Given the description of an element on the screen output the (x, y) to click on. 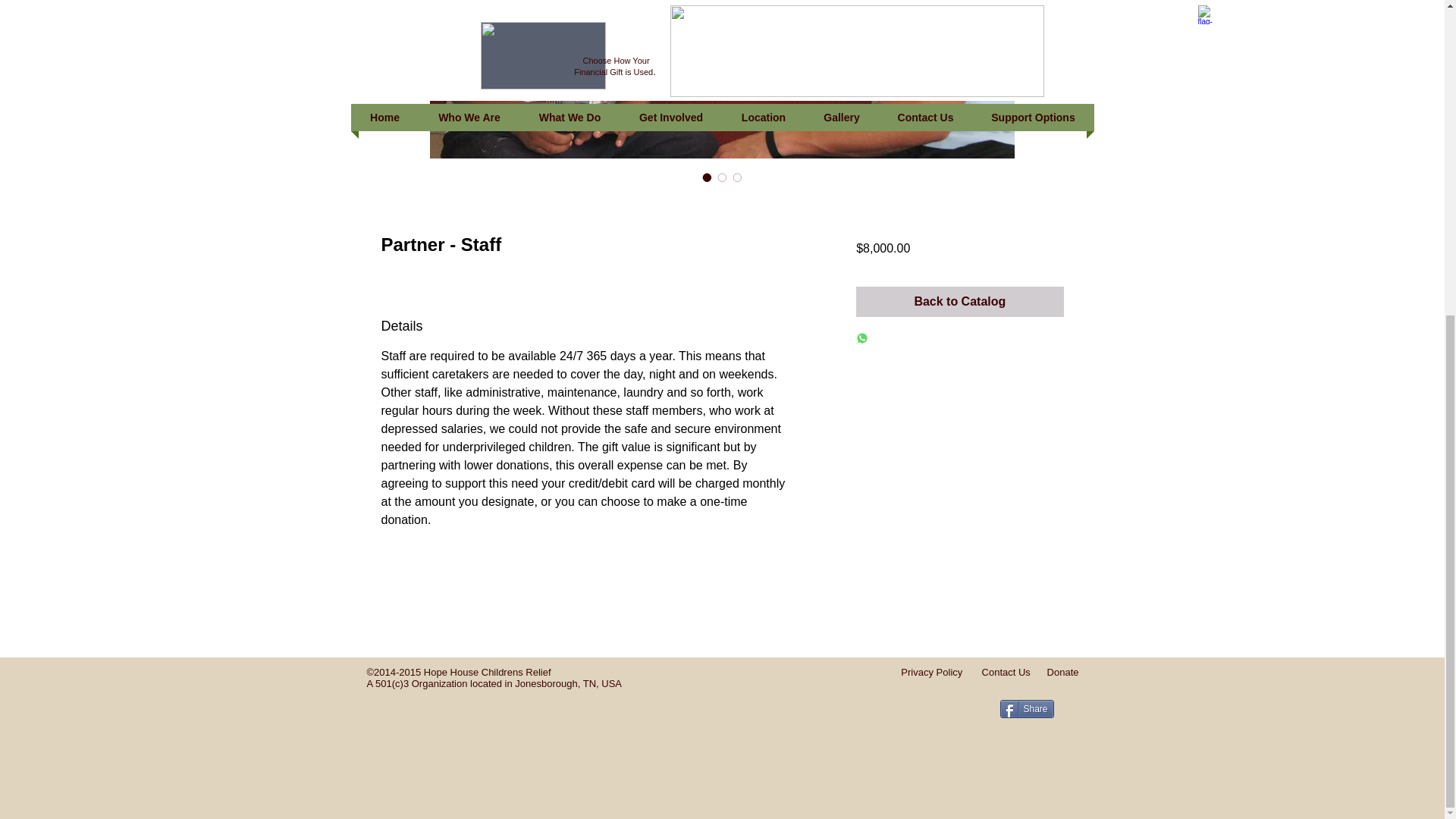
Privacy Policy        (941, 672)
Share (1025, 709)
Contact Us (1005, 672)
Donate (1062, 672)
Back to Catalog (959, 301)
Share (1025, 709)
Twitter Follow (1027, 737)
